Given the description of an element on the screen output the (x, y) to click on. 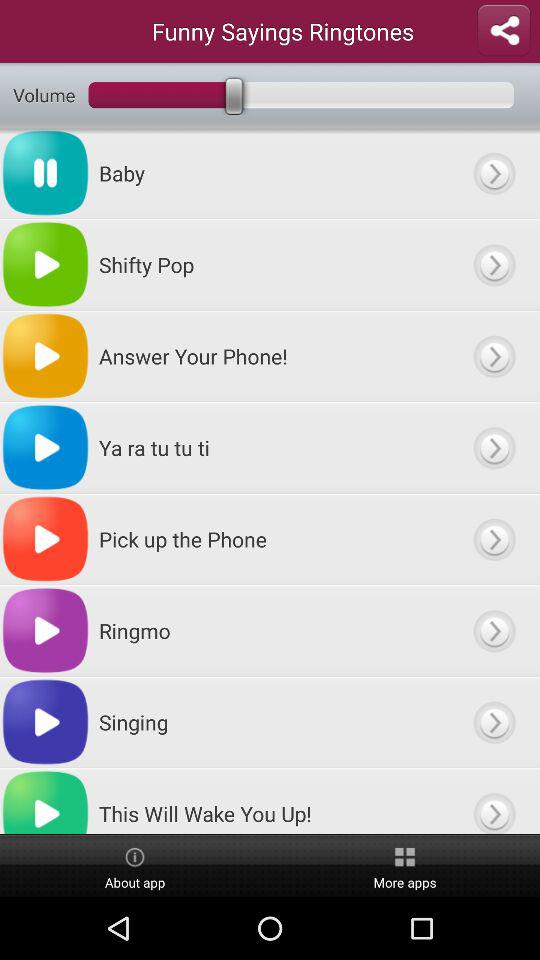
plye button (494, 173)
